Given the description of an element on the screen output the (x, y) to click on. 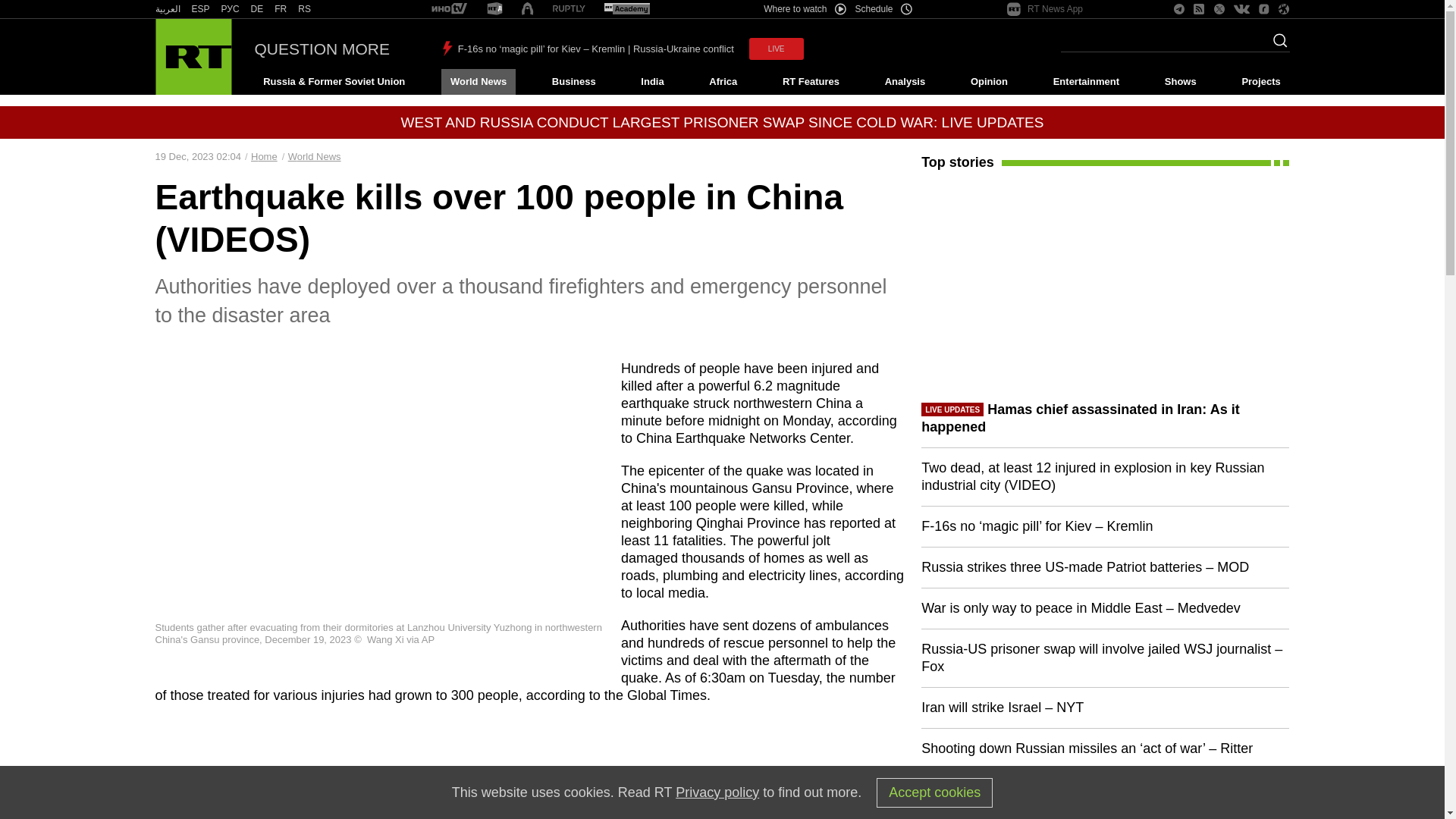
Analysis (905, 81)
RT Features (810, 81)
RT  (304, 9)
QUESTION MORE (322, 48)
Business (573, 81)
ESP (199, 9)
Search (1276, 44)
Schedule (884, 9)
Where to watch (803, 9)
LIVE (776, 48)
India (651, 81)
World News (478, 81)
RT  (280, 9)
RS (304, 9)
RT  (494, 9)
